Given the description of an element on the screen output the (x, y) to click on. 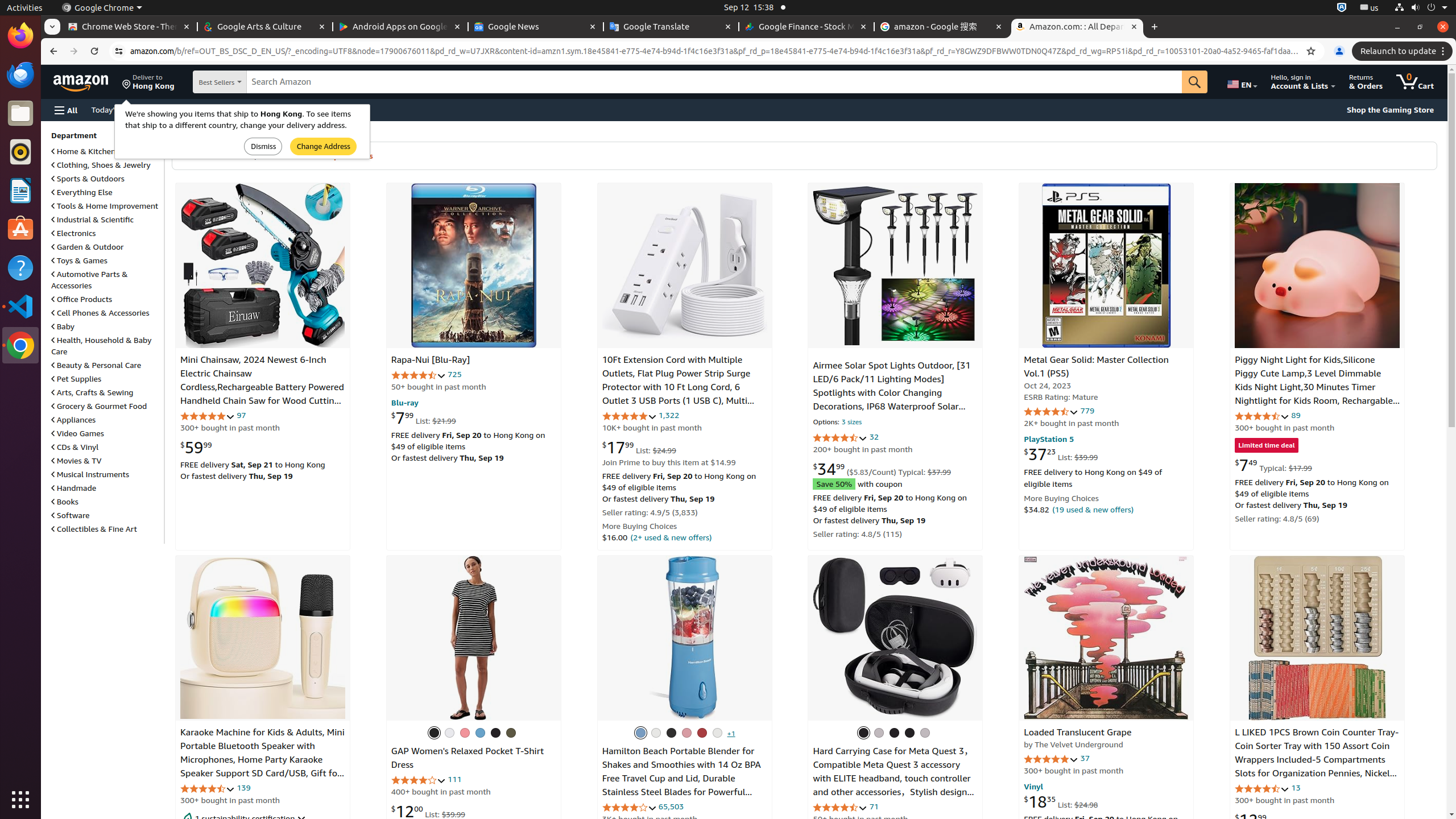
Baby Element type: link (62, 326)
Visual Studio Code Element type: push-button (20, 306)
89 Element type: link (1295, 415)
grey Element type: push-button (909, 732)
Software Element type: link (70, 514)
